Given the description of an element on the screen output the (x, y) to click on. 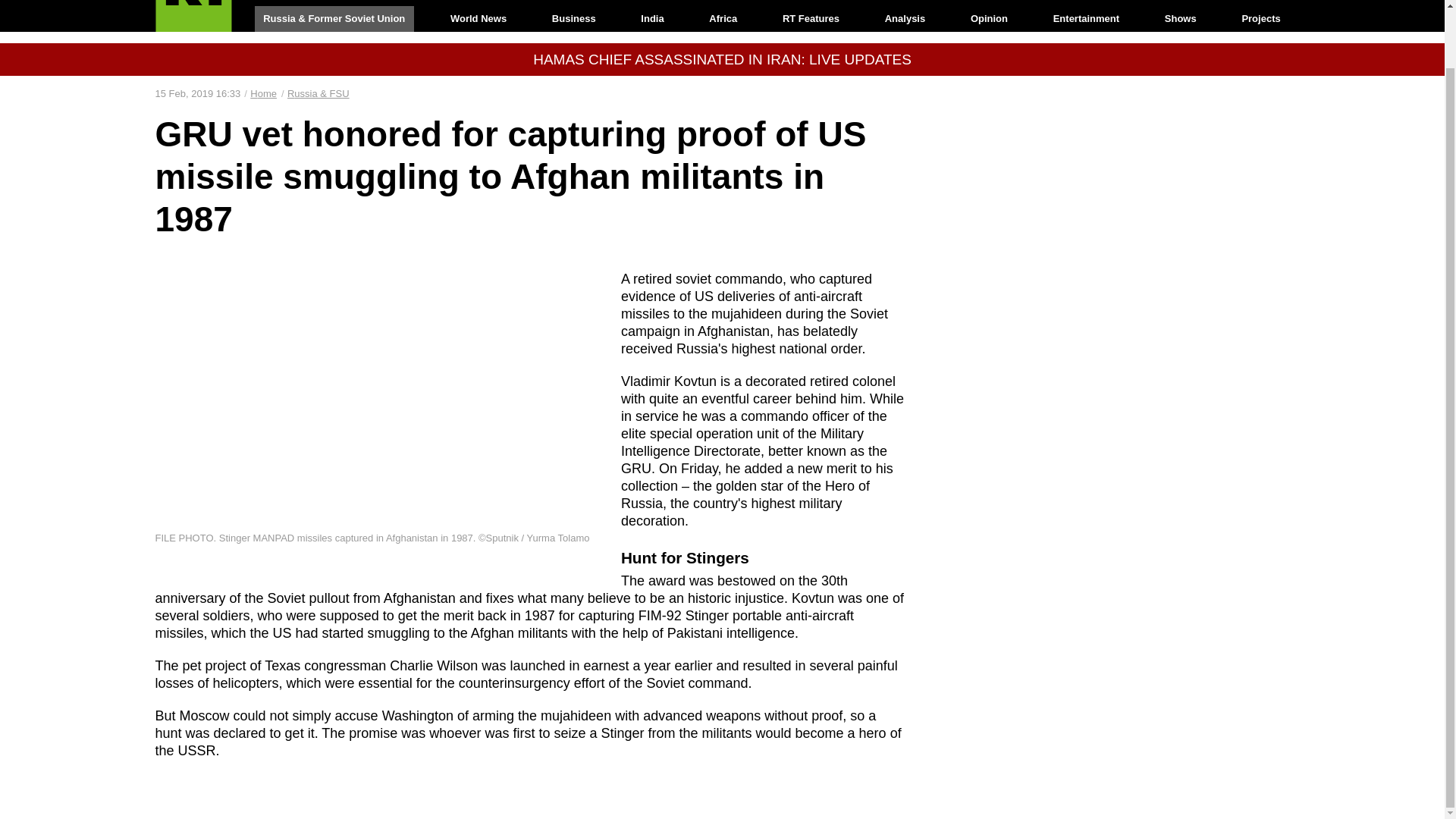
Entertainment (1085, 18)
World News (478, 18)
Shows (1180, 18)
Africa (722, 18)
Analysis (905, 18)
Projects (1261, 18)
India (651, 18)
Opinion (988, 18)
Business (573, 18)
RT Features (810, 18)
